Given the description of an element on the screen output the (x, y) to click on. 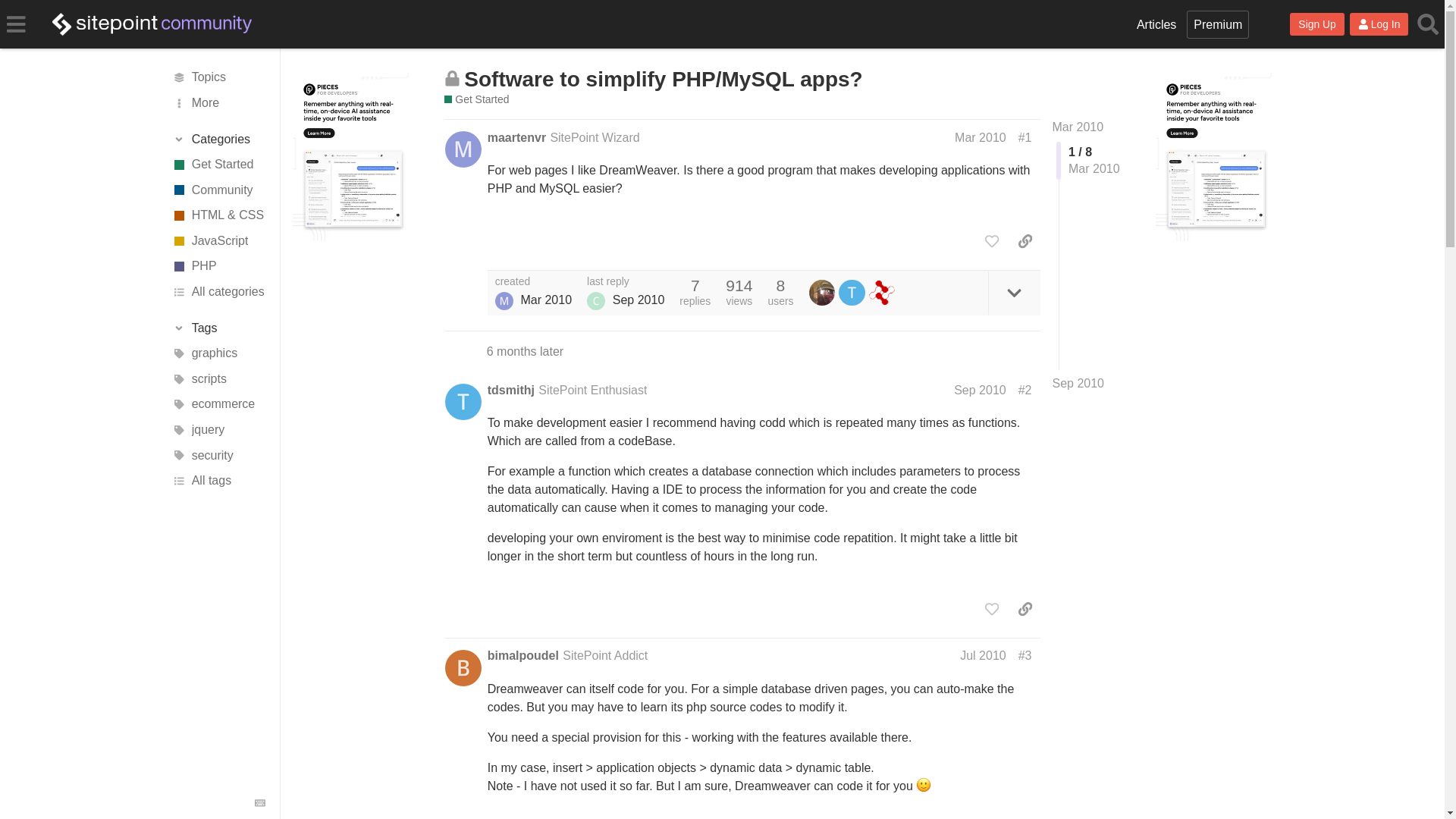
Topics (217, 77)
Categories (217, 139)
graphics (217, 353)
Toggle section (217, 139)
last reply (624, 281)
Log In (1379, 24)
Sep 2010 (1078, 383)
All topics (217, 77)
More (217, 103)
Tags (217, 328)
Get Started (217, 164)
Mar 2010 (1077, 126)
jquery (217, 429)
Keyboard Shortcuts (258, 802)
